Given the description of an element on the screen output the (x, y) to click on. 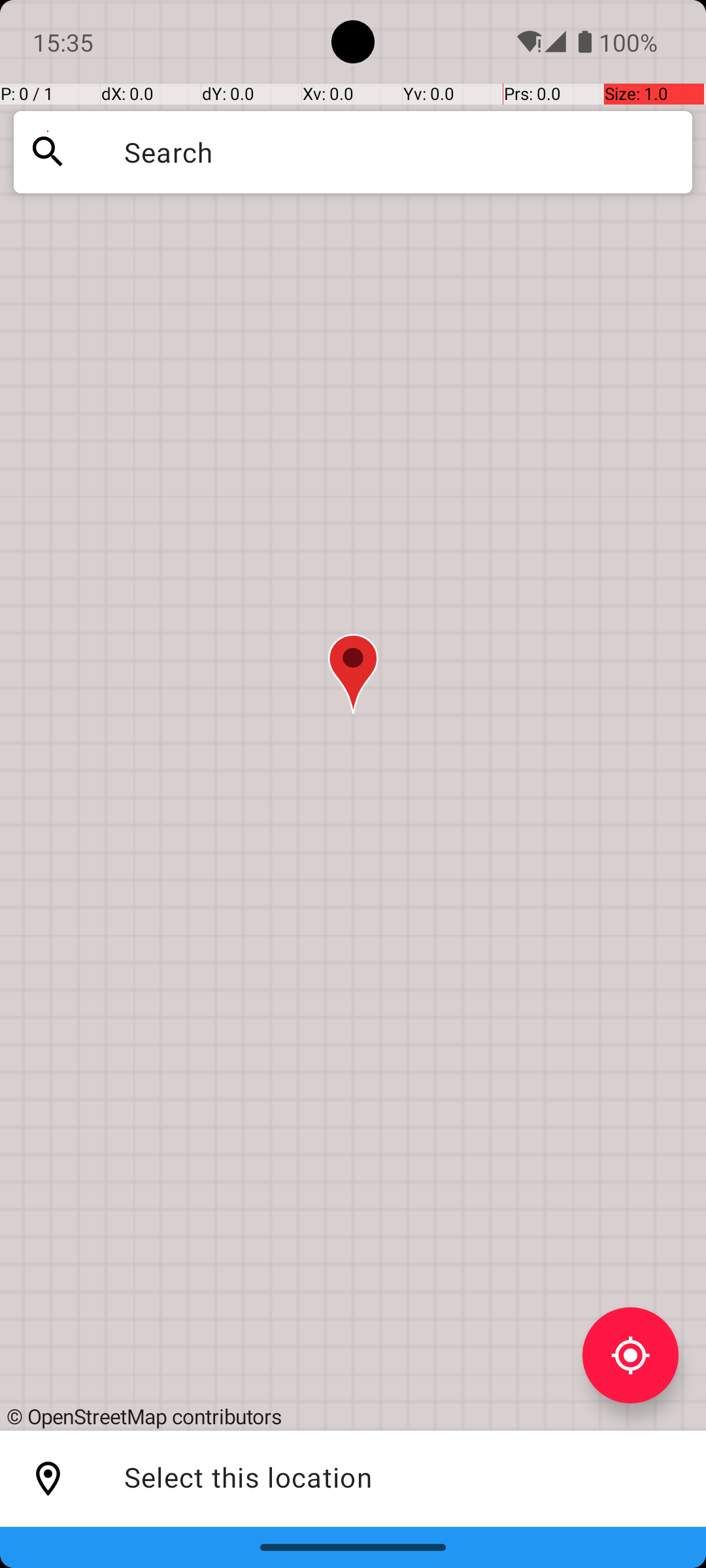
Select this location Element type: android.widget.ImageView (47, 1478)
